Given the description of an element on the screen output the (x, y) to click on. 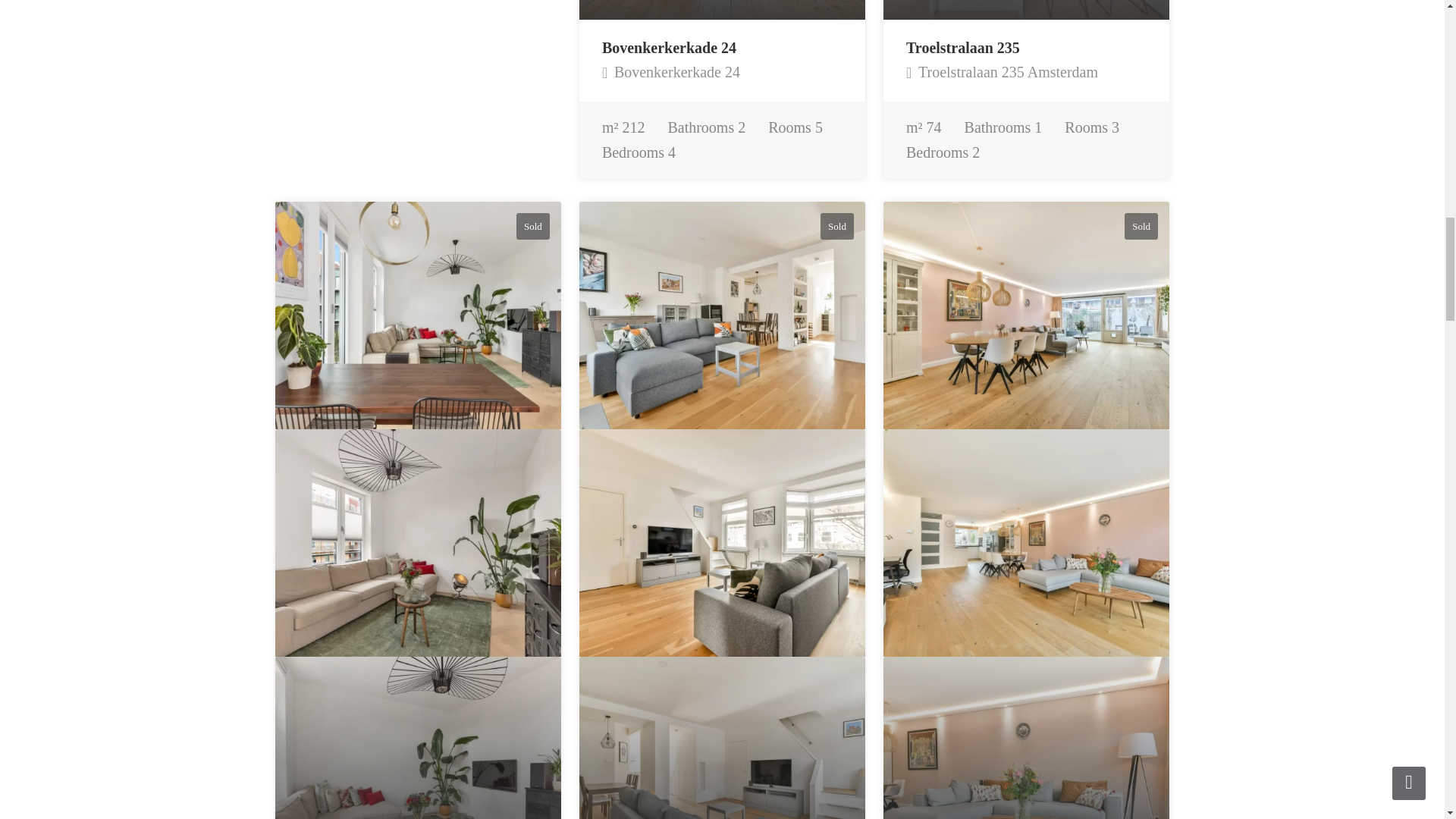
Bovenkerkerkade 24 (670, 71)
Bovenkerkerkade 24 (669, 47)
Troelstralaan 235 Amsterdam (1001, 71)
Troelstralaan 235 (962, 47)
